Given the description of an element on the screen output the (x, y) to click on. 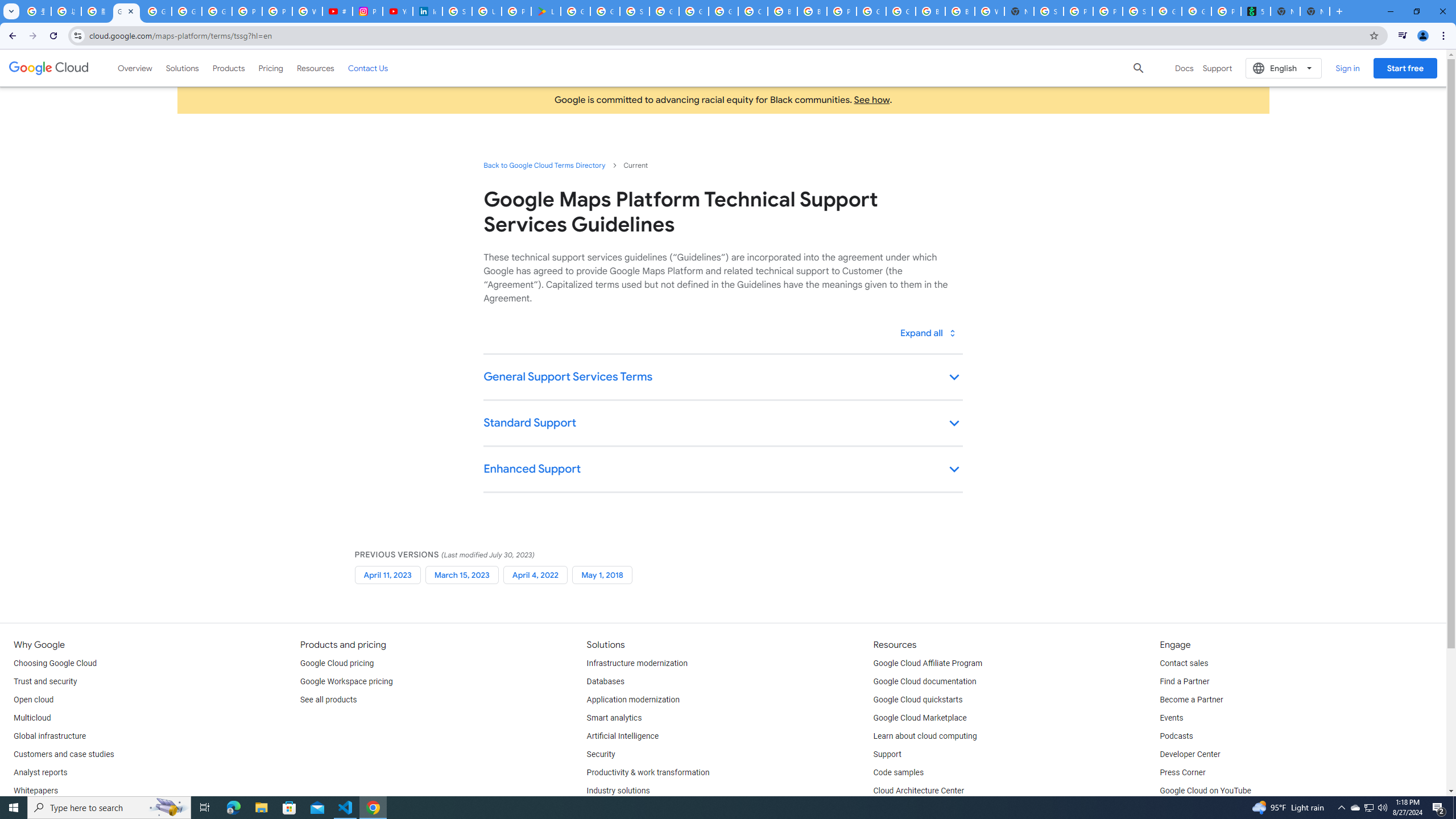
Artificial Intelligence (622, 736)
Browse Chrome as a guest - Computer - Google Chrome Help (782, 11)
Open cloud (33, 700)
Back to Google Cloud Terms Directory (544, 165)
Application modernization (632, 700)
Learn about cloud computing (924, 736)
Events (1170, 718)
